Given the description of an element on the screen output the (x, y) to click on. 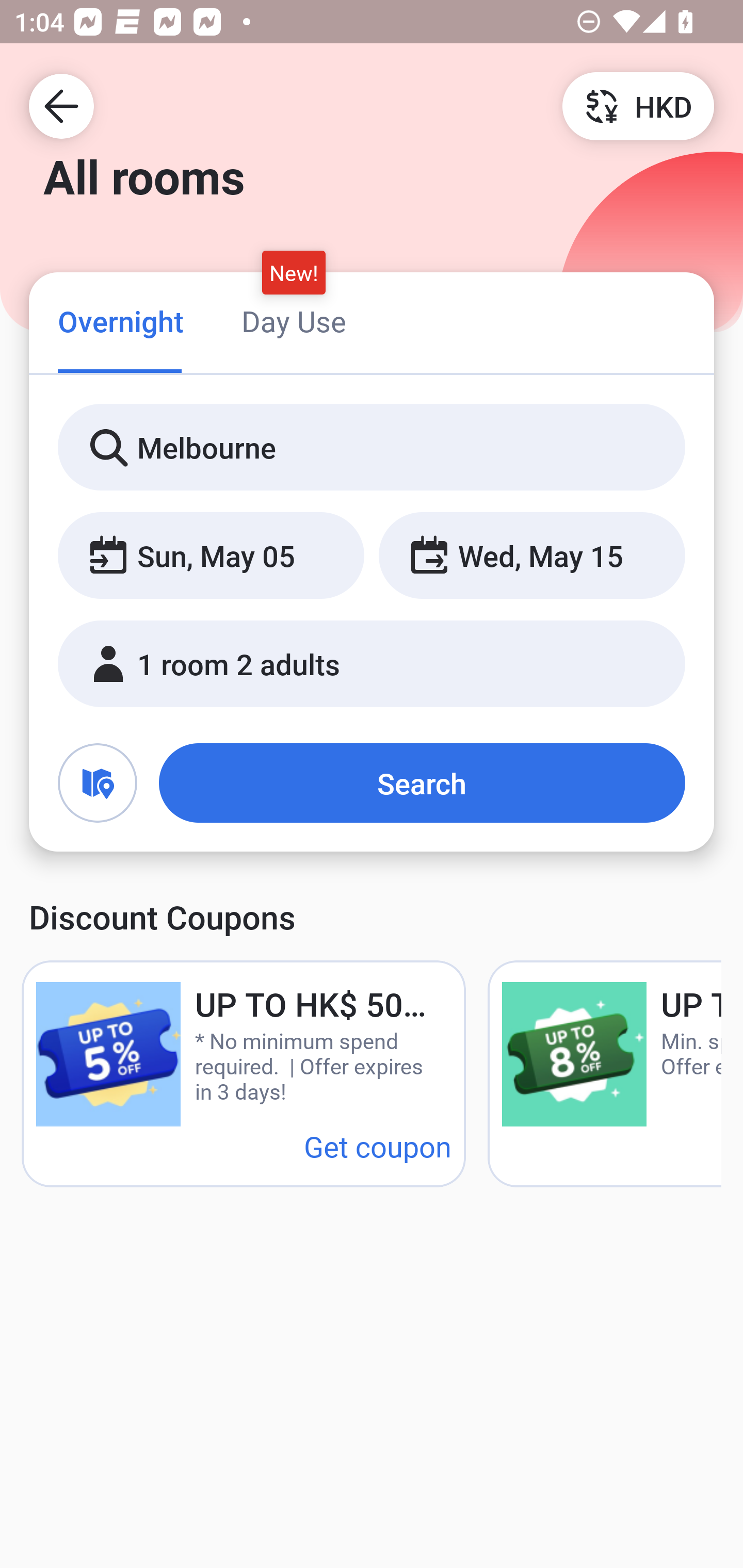
HKD (638, 105)
New! (294, 272)
Day Use (293, 321)
Melbourne (371, 447)
Sun, May 05 (210, 555)
Wed, May 15 (531, 555)
1 room 2 adults (371, 663)
Search (422, 783)
Get coupon (377, 1146)
